Given the description of an element on the screen output the (x, y) to click on. 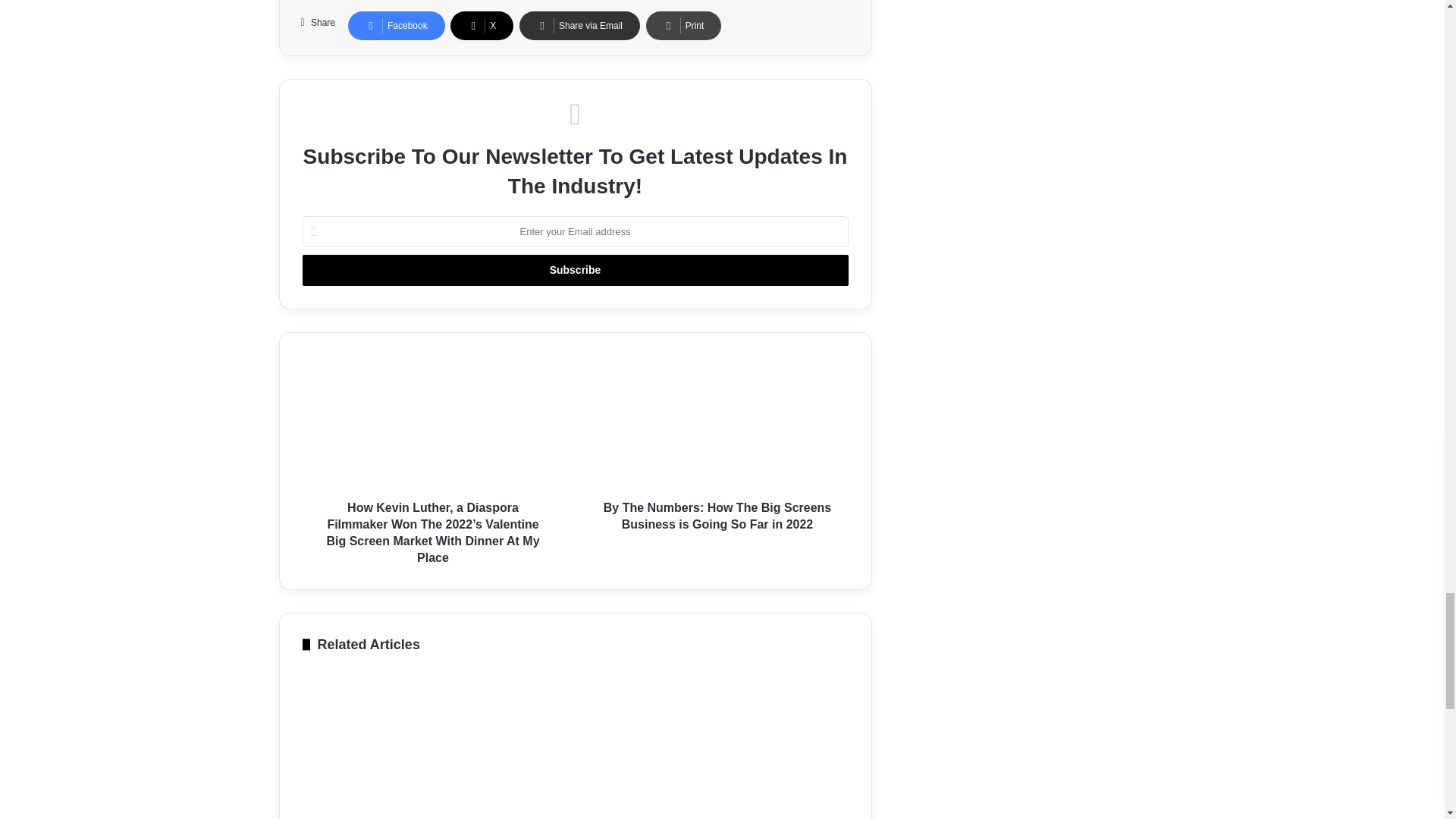
Subscribe (574, 269)
Share via Email (579, 25)
Print (684, 25)
X (481, 25)
Facebook (396, 25)
X (481, 25)
Print (684, 25)
Facebook (396, 25)
Share via Email (579, 25)
